Given the description of an element on the screen output the (x, y) to click on. 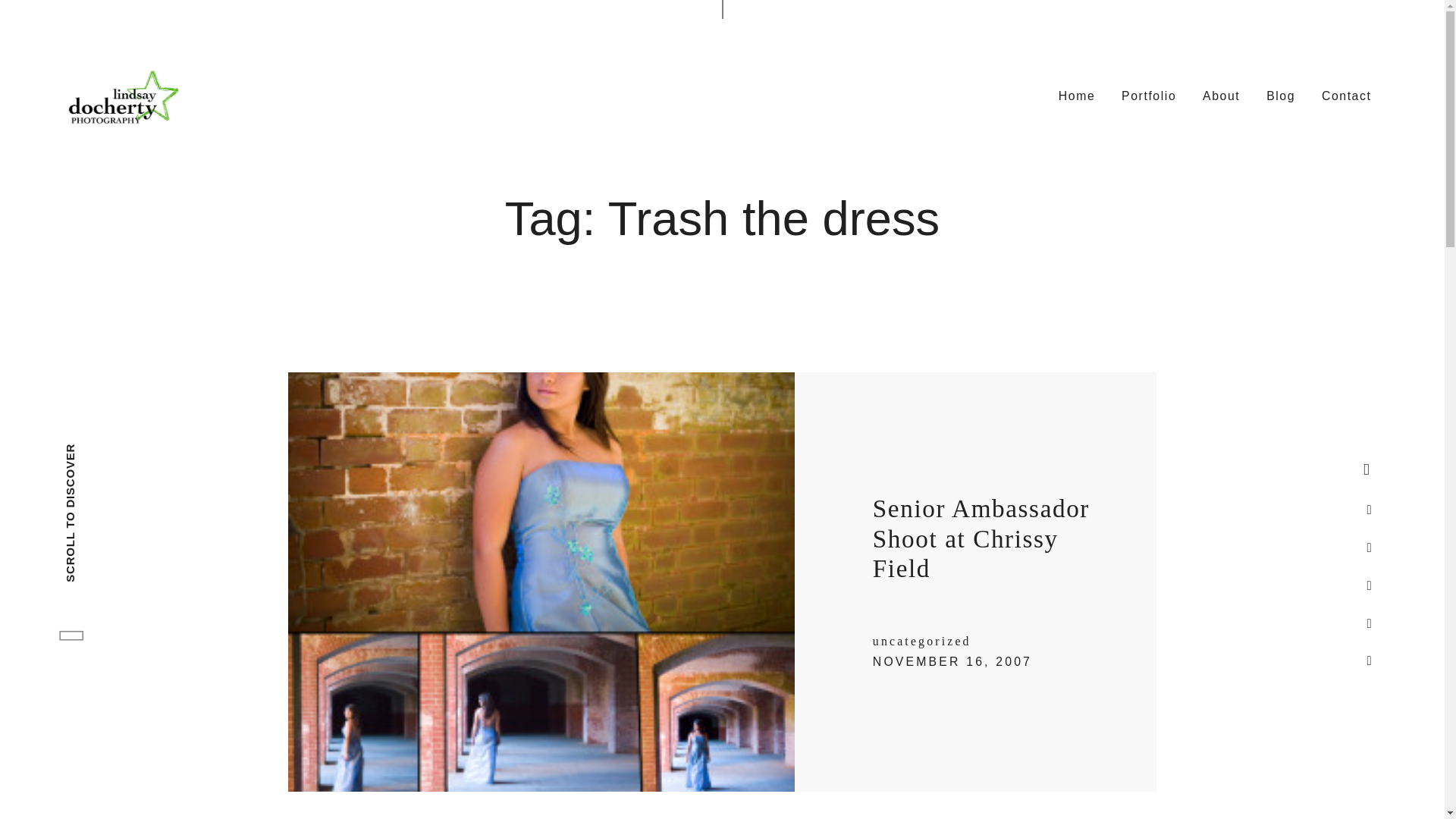
SCROLL TO DISCOVER (132, 452)
Home (1076, 94)
About (1221, 94)
SCROLL TO DISCOVER (152, 470)
Blog (1281, 94)
Portfolio (1149, 94)
Contact (1346, 94)
